Given the description of an element on the screen output the (x, y) to click on. 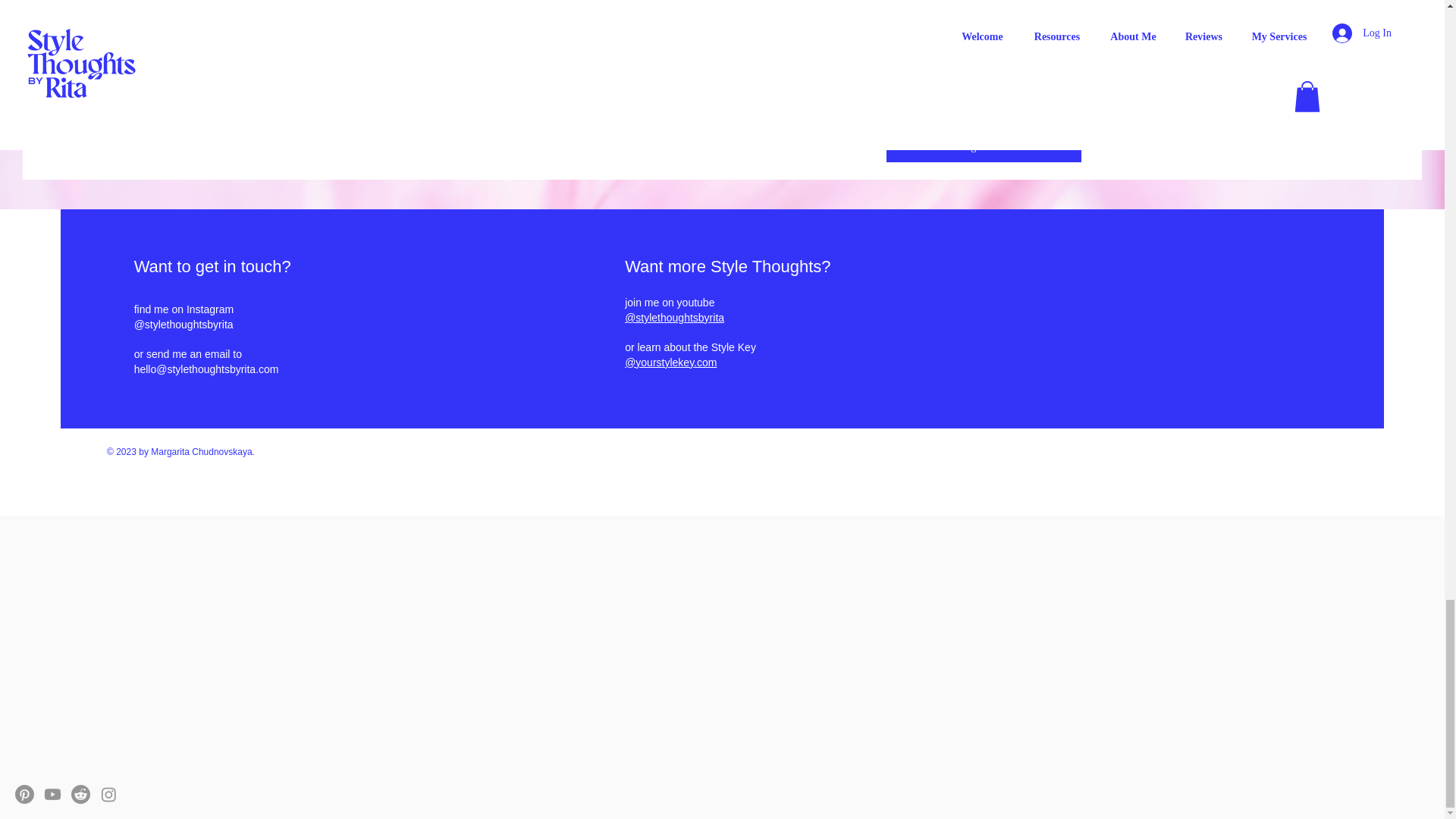
Learning Resources (983, 146)
